Given the description of an element on the screen output the (x, y) to click on. 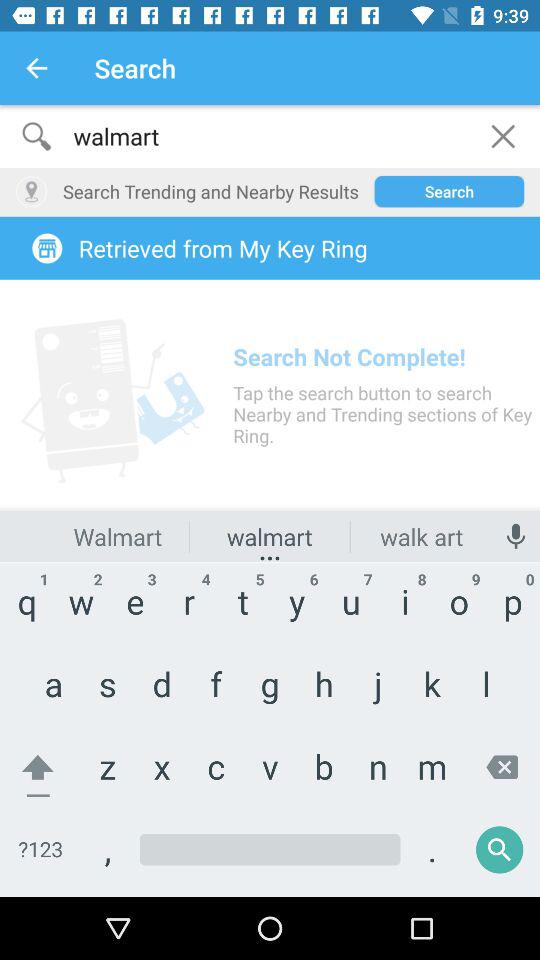
search menu (270, 501)
